Given the description of an element on the screen output the (x, y) to click on. 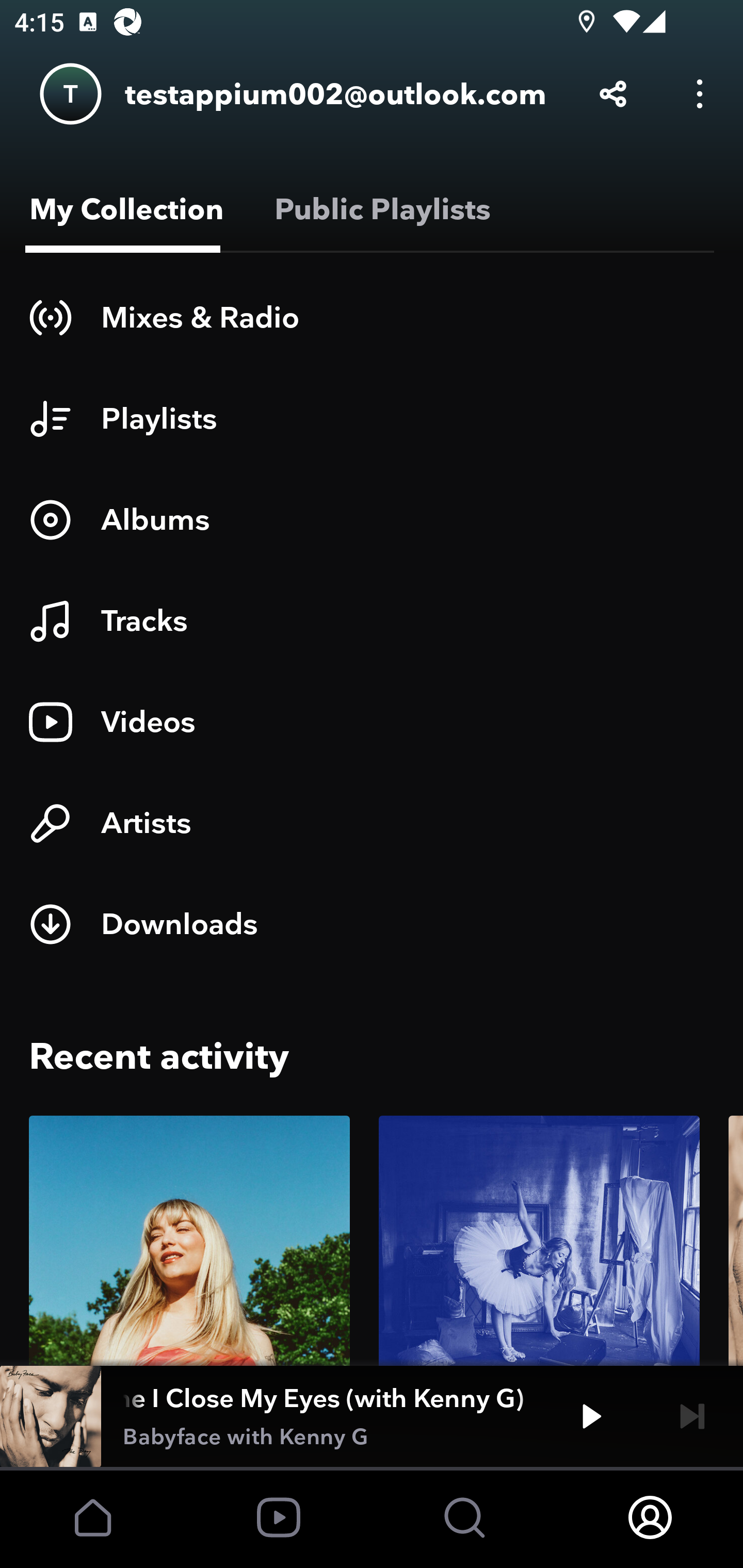
Share (612, 93)
Options (699, 93)
Public Playlists (378, 209)
Mixes & Radio (371, 317)
Playlists (371, 418)
Albums (371, 519)
Tracks (371, 620)
Videos (371, 722)
Artists (371, 823)
Downloads (371, 924)
Play (590, 1416)
